Given the description of an element on the screen output the (x, y) to click on. 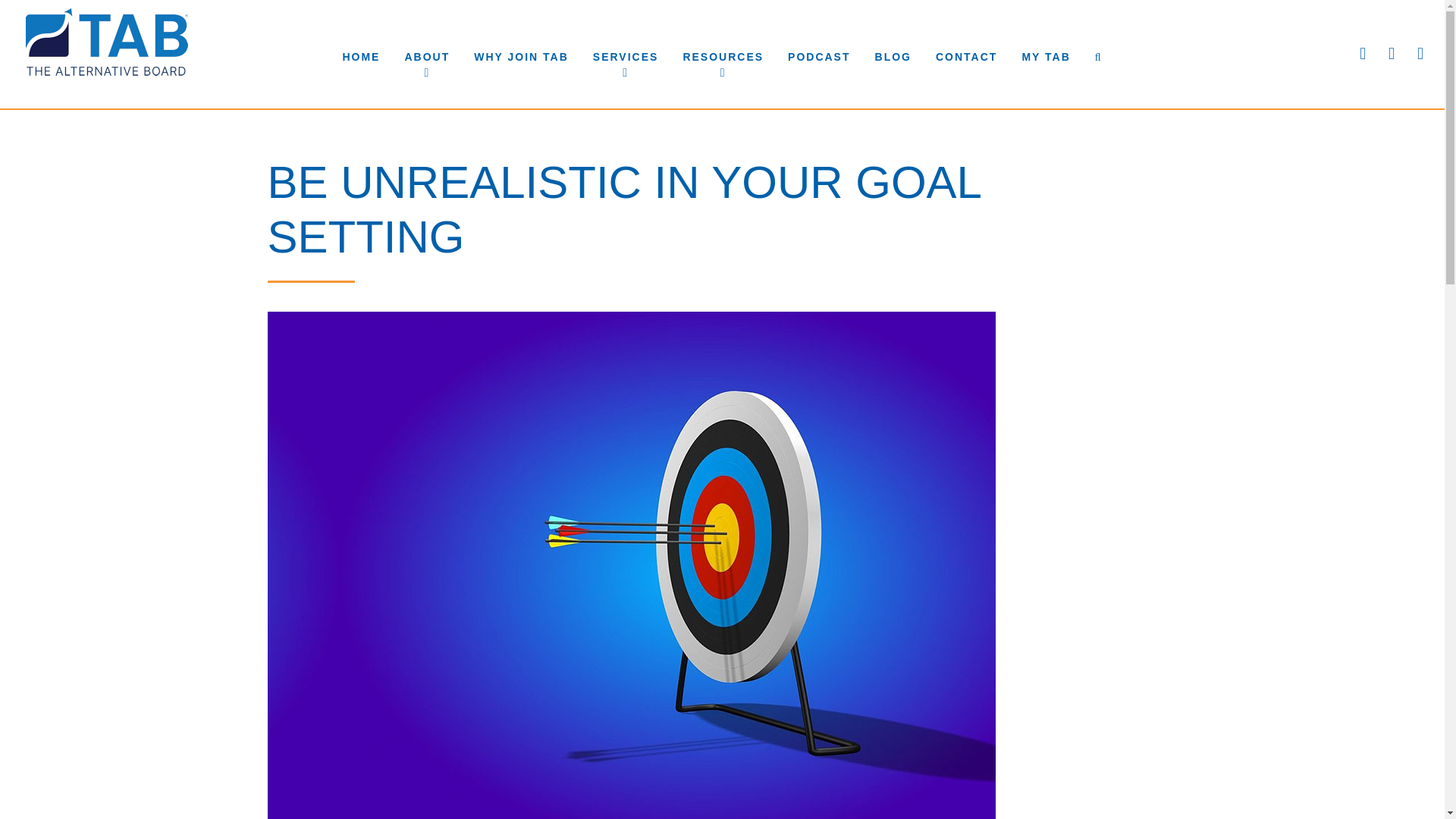
ABOUT (426, 57)
PODCAST (818, 57)
CONTACT (966, 57)
SERVICES (625, 57)
RESOURCES (722, 57)
BLOG (893, 57)
HOME (360, 57)
WHY JOIN TAB (520, 57)
MY TAB (1045, 57)
